Given the description of an element on the screen output the (x, y) to click on. 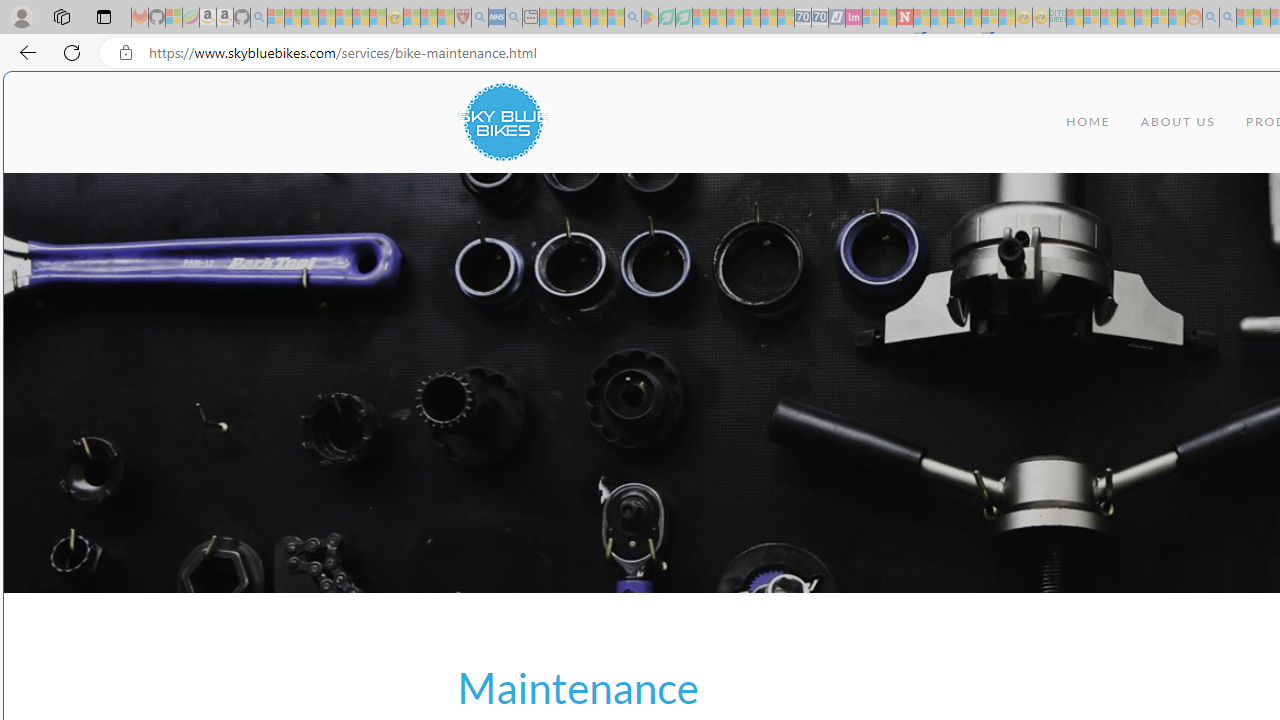
HOME (1088, 122)
Kinda Frugal - MSN - Sleeping (1142, 17)
ABOUT US (1178, 122)
utah sues federal government - Search - Sleeping (513, 17)
